Given the description of an element on the screen output the (x, y) to click on. 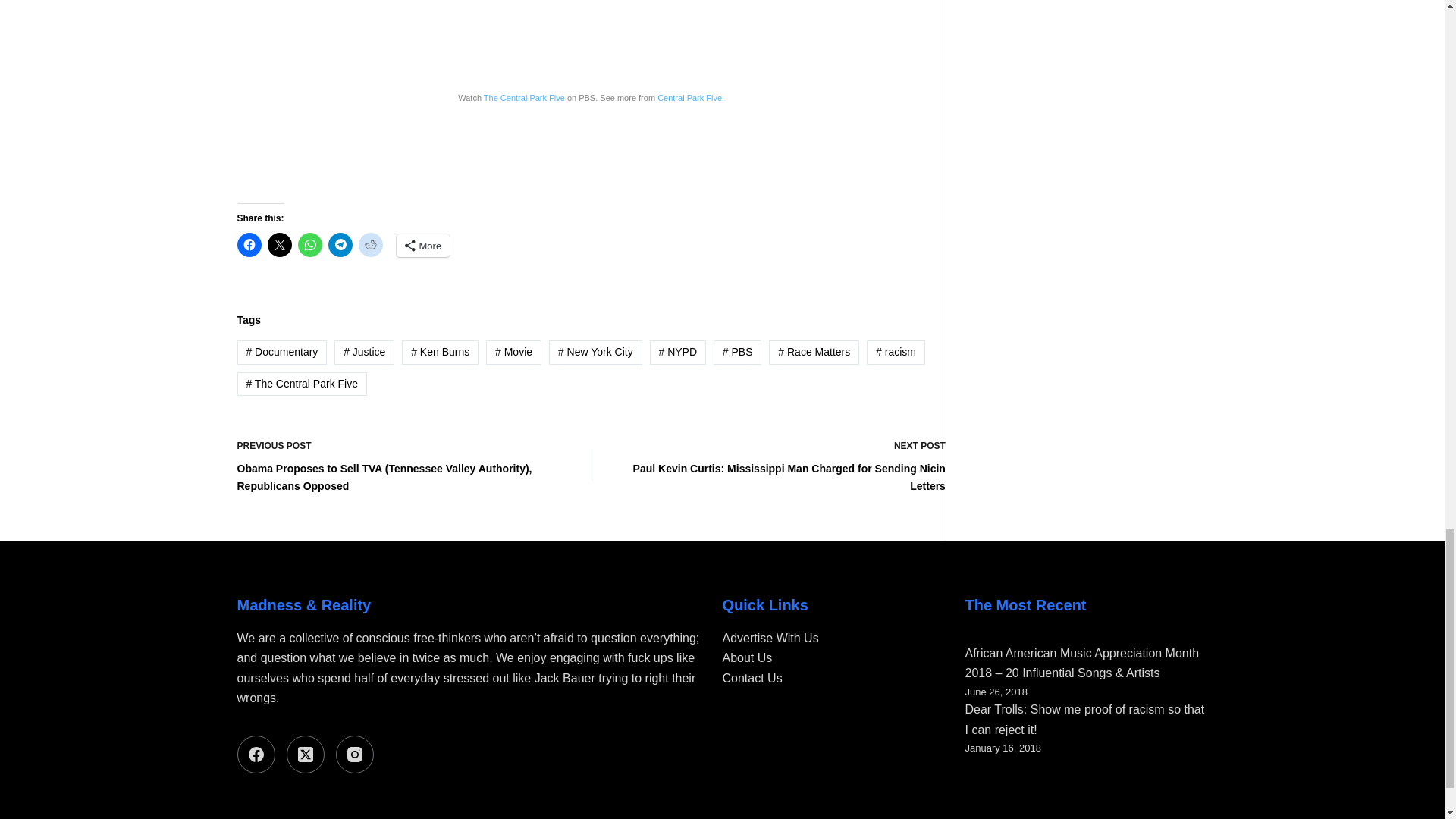
Click to share on WhatsApp (309, 244)
Click to share on Telegram (339, 244)
Click to share on Reddit (369, 244)
Click to share on X (278, 244)
More (422, 245)
Central Park Five. (690, 97)
The Central Park Five (523, 97)
Click to share on Facebook (247, 244)
